Given the description of an element on the screen output the (x, y) to click on. 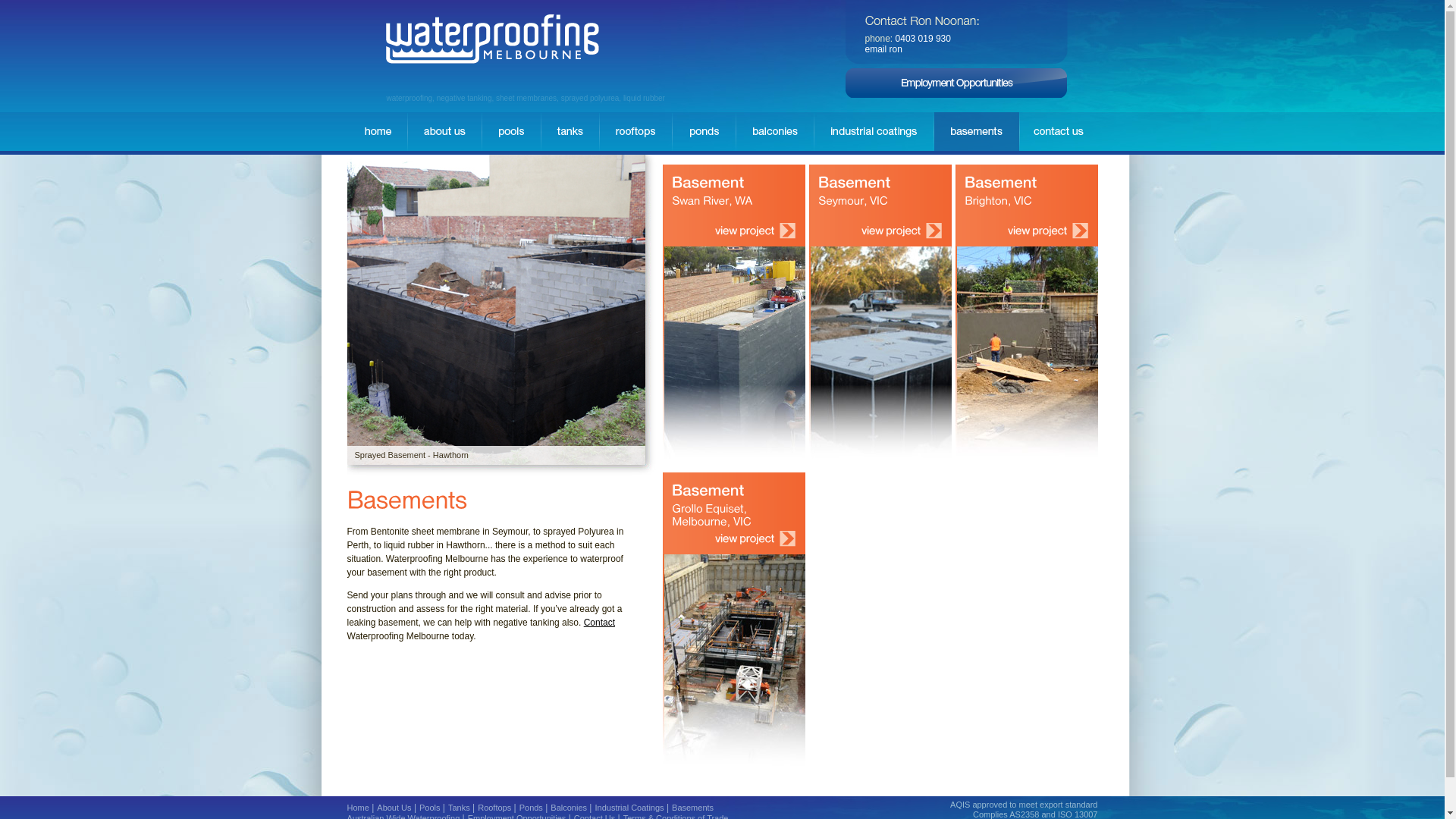
Waterproofing Melbourne - Home Element type: text (491, 39)
tanks Element type: text (570, 131)
Tanks Element type: text (459, 807)
Home Element type: text (358, 807)
Industrial Coatings Element type: text (628, 807)
Basements Element type: text (692, 807)
industrial coatings Element type: text (873, 131)
Looking for a job? Element type: text (955, 82)
Balconies Element type: text (568, 807)
pools Element type: text (511, 131)
home Element type: text (377, 131)
Contact Element type: text (599, 622)
basements Element type: text (976, 131)
contact us Element type: text (1058, 131)
Pools Element type: text (429, 807)
rooftops Element type: text (635, 131)
About Us Element type: text (393, 807)
Rooftops Element type: text (494, 807)
Ponds Element type: text (530, 807)
ponds Element type: text (702, 131)
balconies Element type: text (773, 131)
about us Element type: text (444, 131)
email ron Element type: text (882, 48)
